Given the description of an element on the screen output the (x, y) to click on. 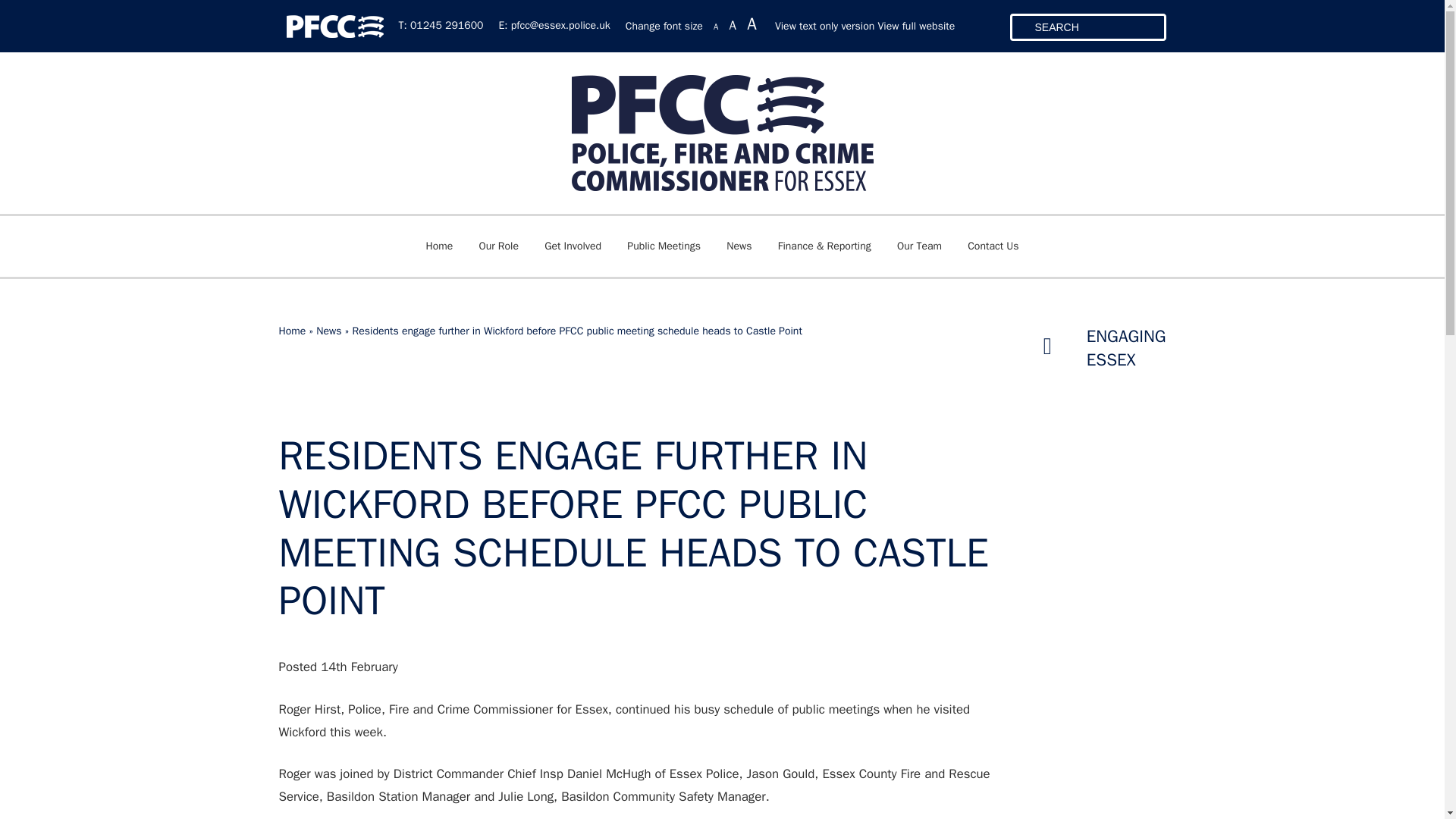
Public Meetings (663, 246)
Our Role (498, 246)
Skip to main content (8, 7)
Get Involved (572, 246)
View text only version (824, 25)
View full website (916, 25)
SEARCH (1088, 26)
